Given the description of an element on the screen output the (x, y) to click on. 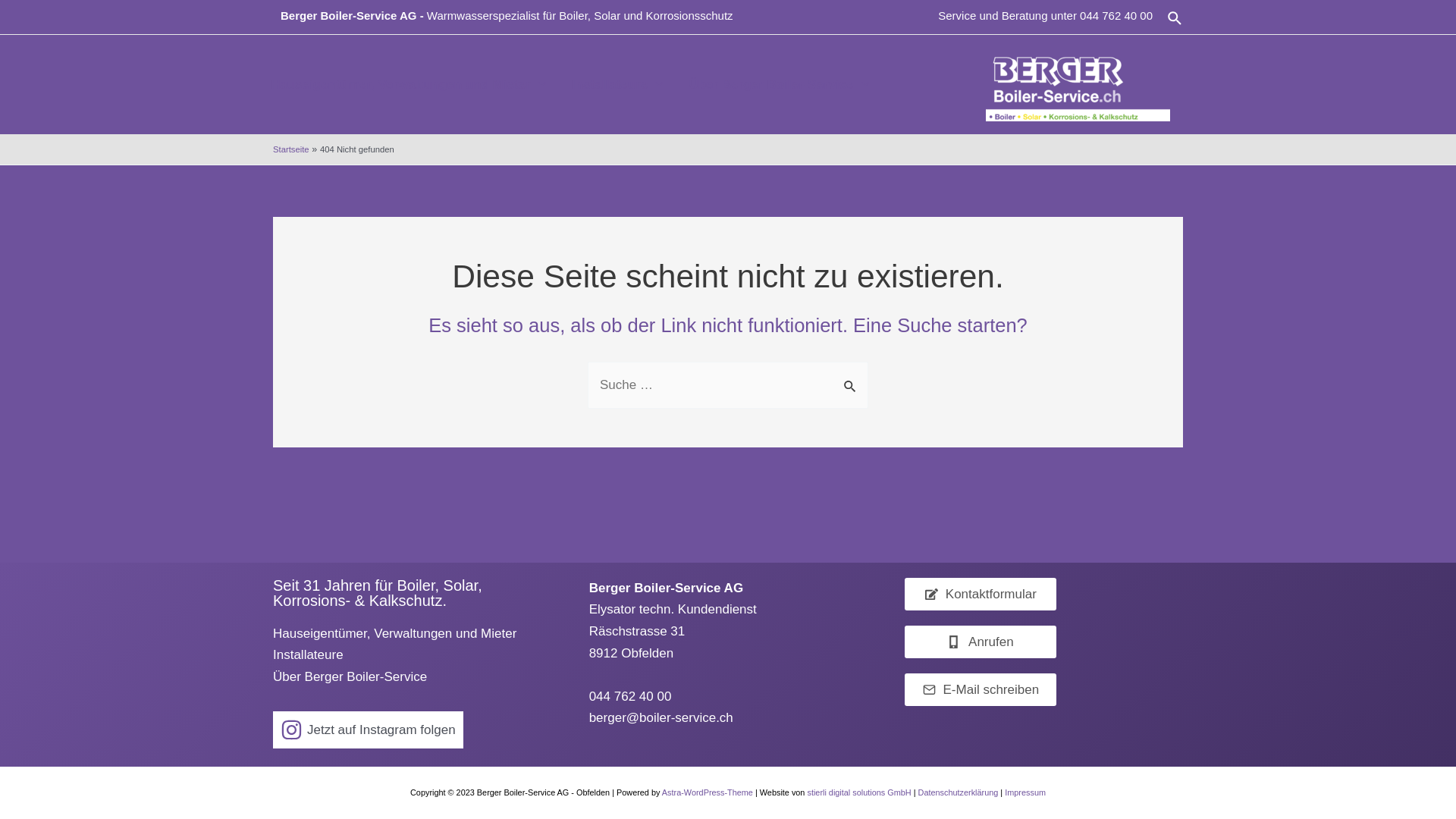
044 762 40 00 Element type: text (1115, 15)
Suche Element type: text (851, 377)
berger@boiler-service.ch Element type: text (661, 717)
Jetzt auf Instagram folgen Element type: text (368, 729)
044 762 40 00 Element type: text (630, 696)
Installateure Element type: text (616, 84)
Installateure Element type: text (308, 655)
Impressum Element type: text (1024, 792)
E-Mail schreiben Element type: text (980, 689)
Kontaktformular Element type: text (980, 593)
Suche Element type: text (1175, 18)
Astra-WordPress-Theme Element type: text (707, 792)
Anrufen Element type: text (980, 641)
Startseite Element type: text (291, 149)
stierli digital solutions GmbH Element type: text (858, 792)
